Given the description of an element on the screen output the (x, y) to click on. 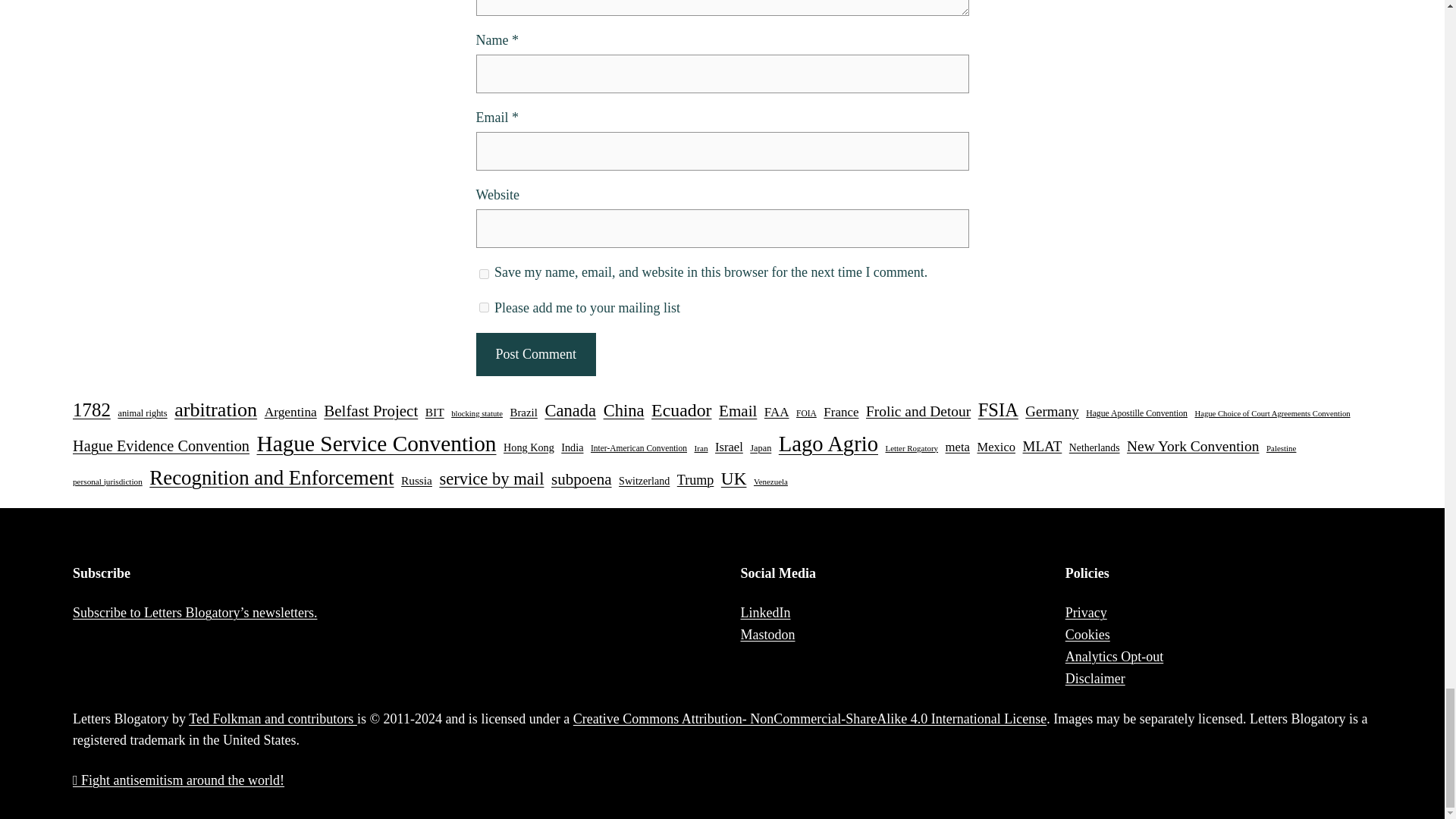
Post Comment (535, 353)
animal rights (142, 413)
1782 (91, 409)
1 (484, 307)
arbitration (215, 409)
Argentina (290, 412)
Post Comment (535, 353)
Belfast Project (370, 411)
